Given the description of an element on the screen output the (x, y) to click on. 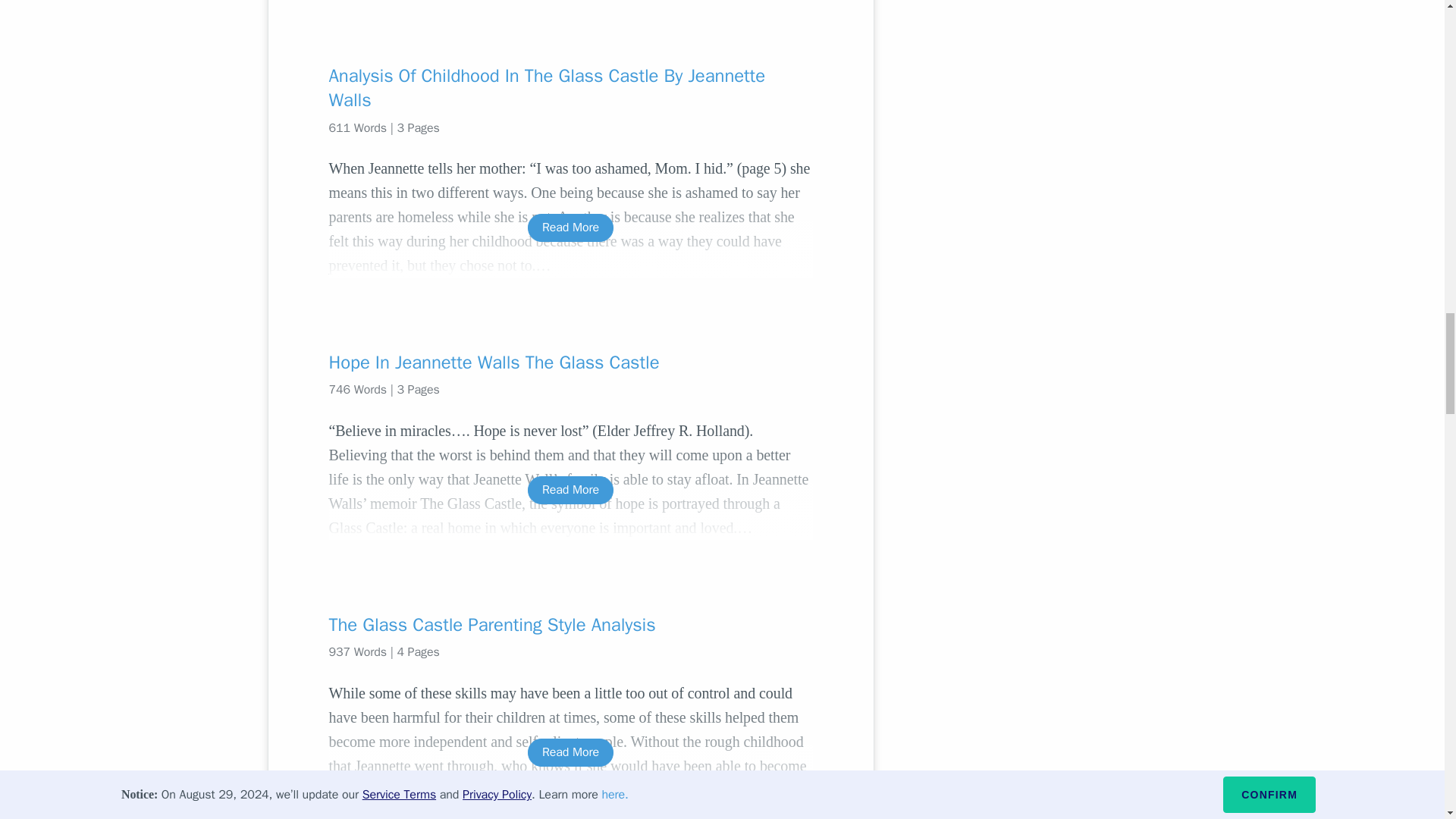
Read More (569, 489)
The Glass Castle Parenting Style Analysis (570, 624)
Read More (569, 752)
Analysis Of Childhood In The Glass Castle By Jeannette Walls (570, 88)
Read More (569, 227)
Hope In Jeannette Walls The Glass Castle (570, 362)
